Given the description of an element on the screen output the (x, y) to click on. 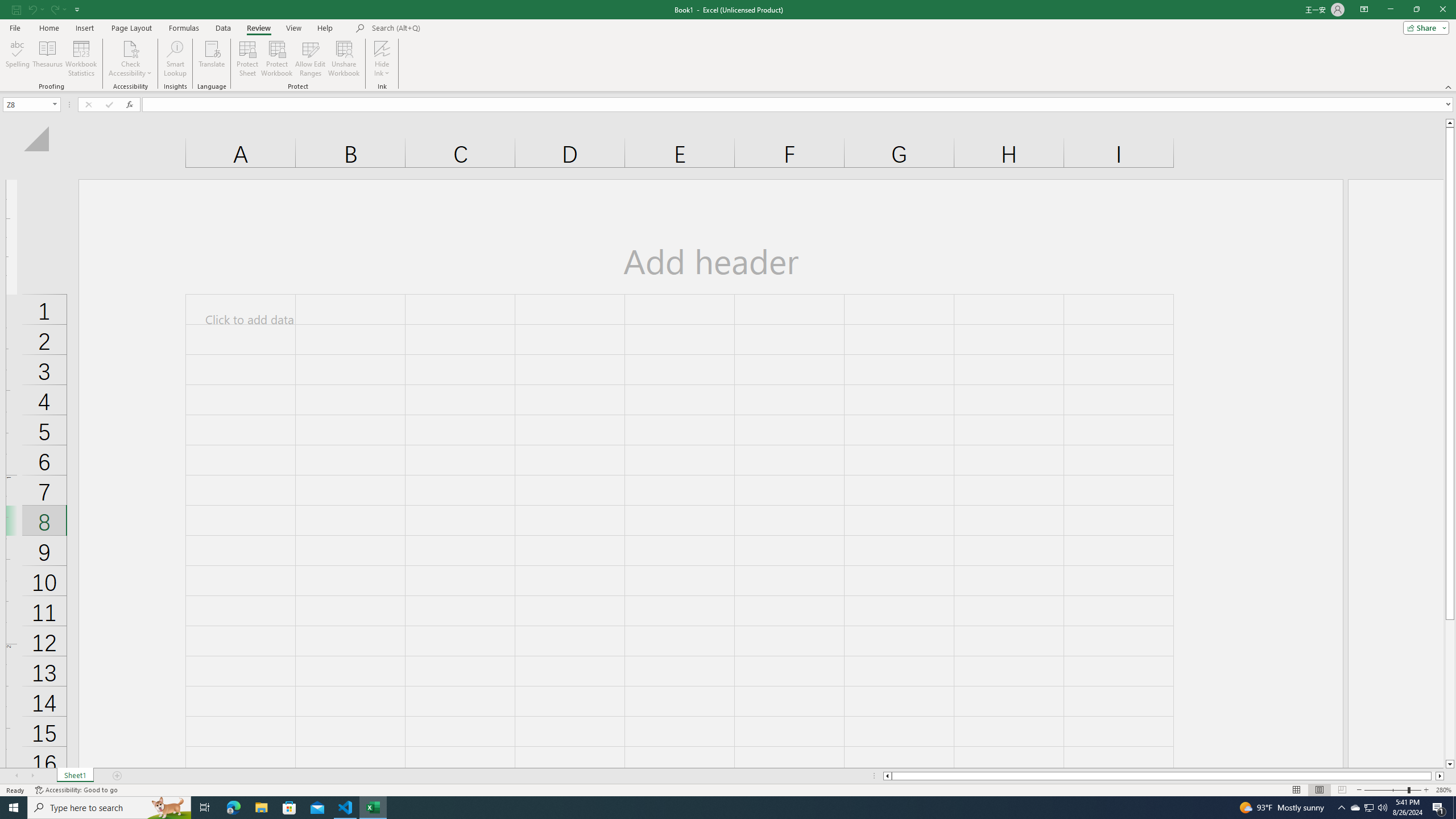
Formula Bar (798, 104)
Normal (1296, 790)
Column left (886, 775)
Home (48, 28)
Name Box (30, 104)
